Given the description of an element on the screen output the (x, y) to click on. 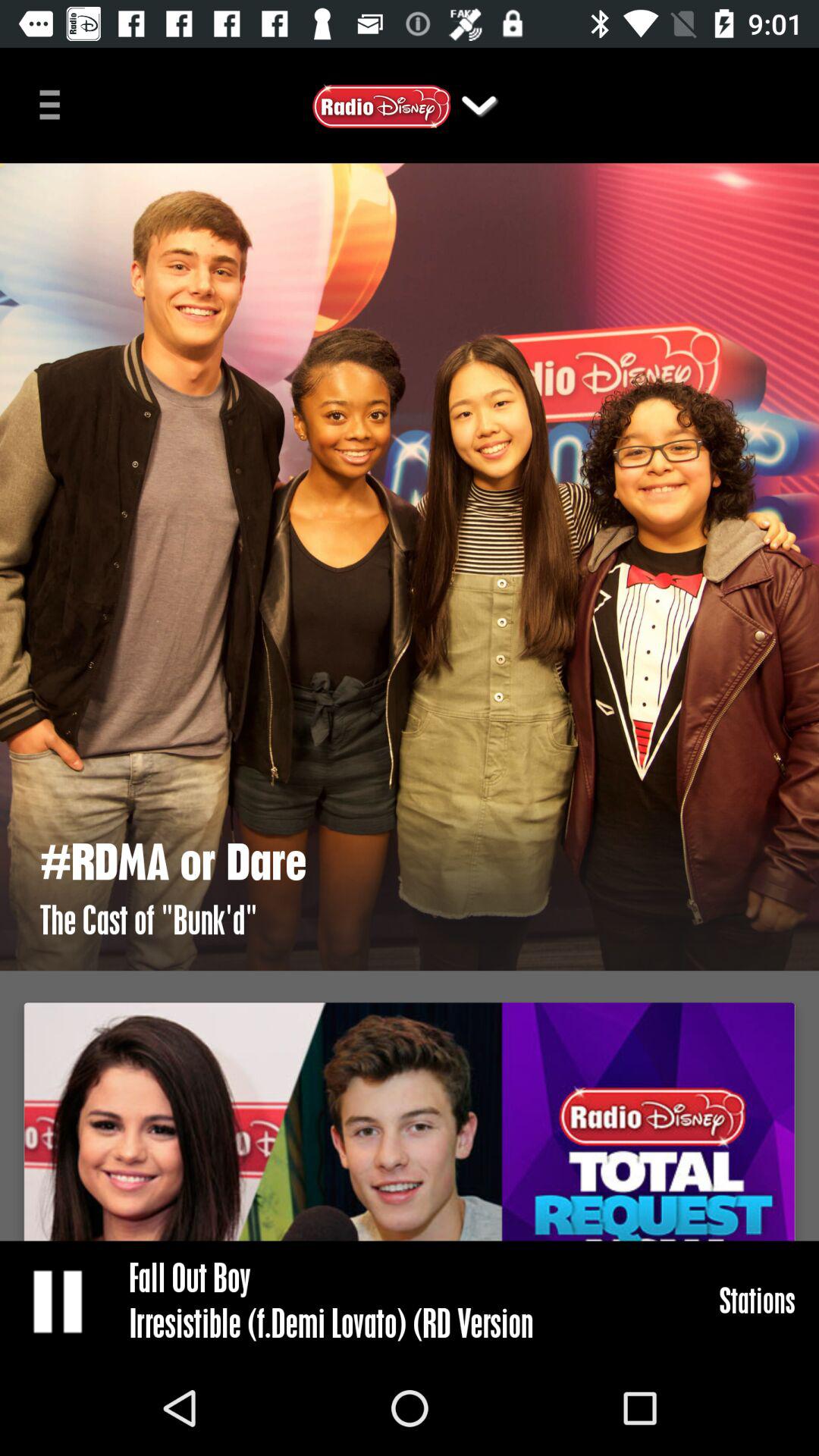
click the icon at the top left corner (55, 103)
